Given the description of an element on the screen output the (x, y) to click on. 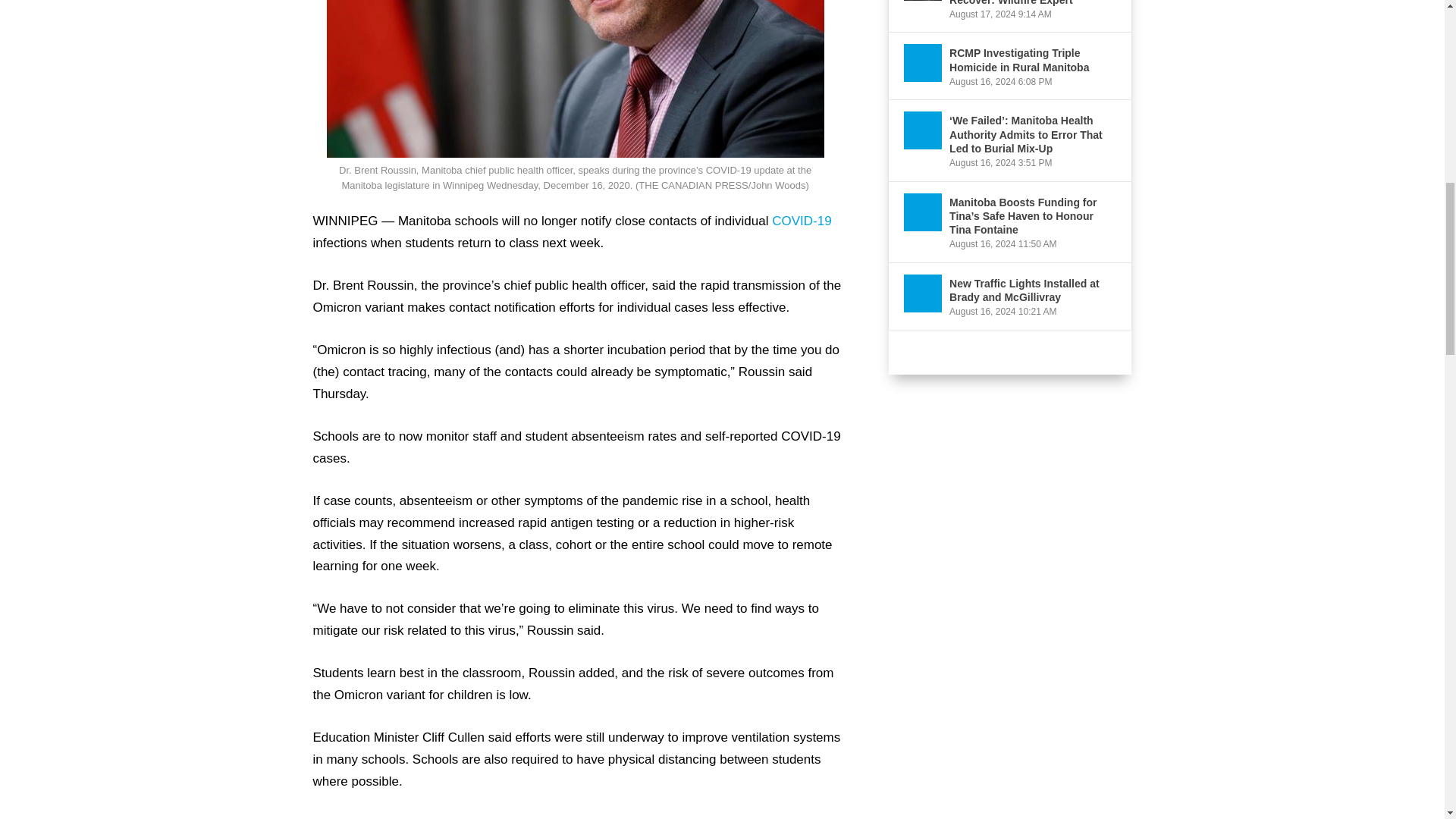
New Traffic Lights Installed at Brady and McGillivray (923, 293)
COVID-19 (801, 220)
RCMP Investigating Triple Homicide in Rural Manitoba (923, 62)
